Given the description of an element on the screen output the (x, y) to click on. 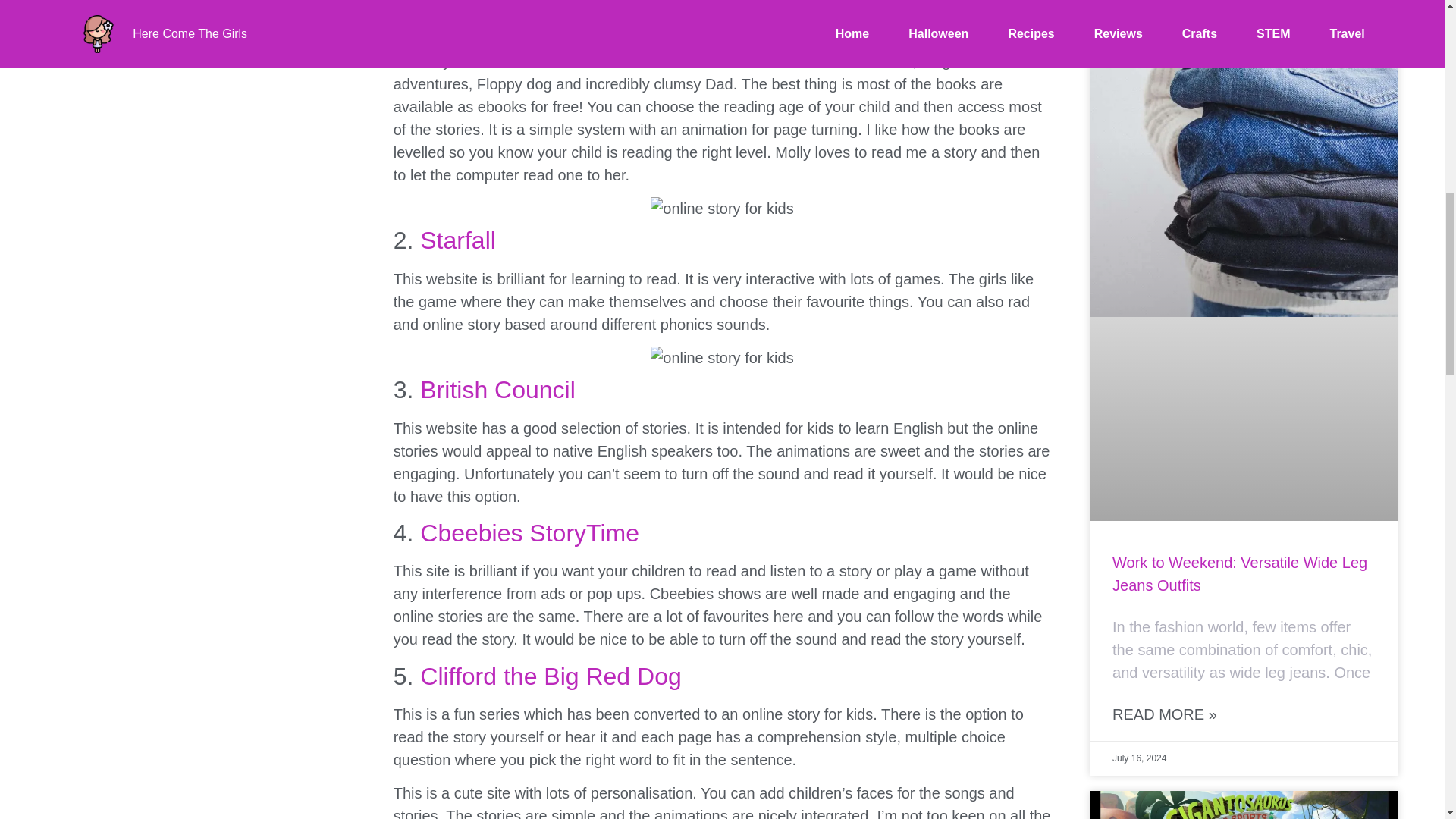
Oxford Owl (480, 7)
Cbeebies StoryTime (529, 533)
Starfall (458, 239)
Clifford the Big Red Dog (550, 676)
British Council (497, 389)
